Given the description of an element on the screen output the (x, y) to click on. 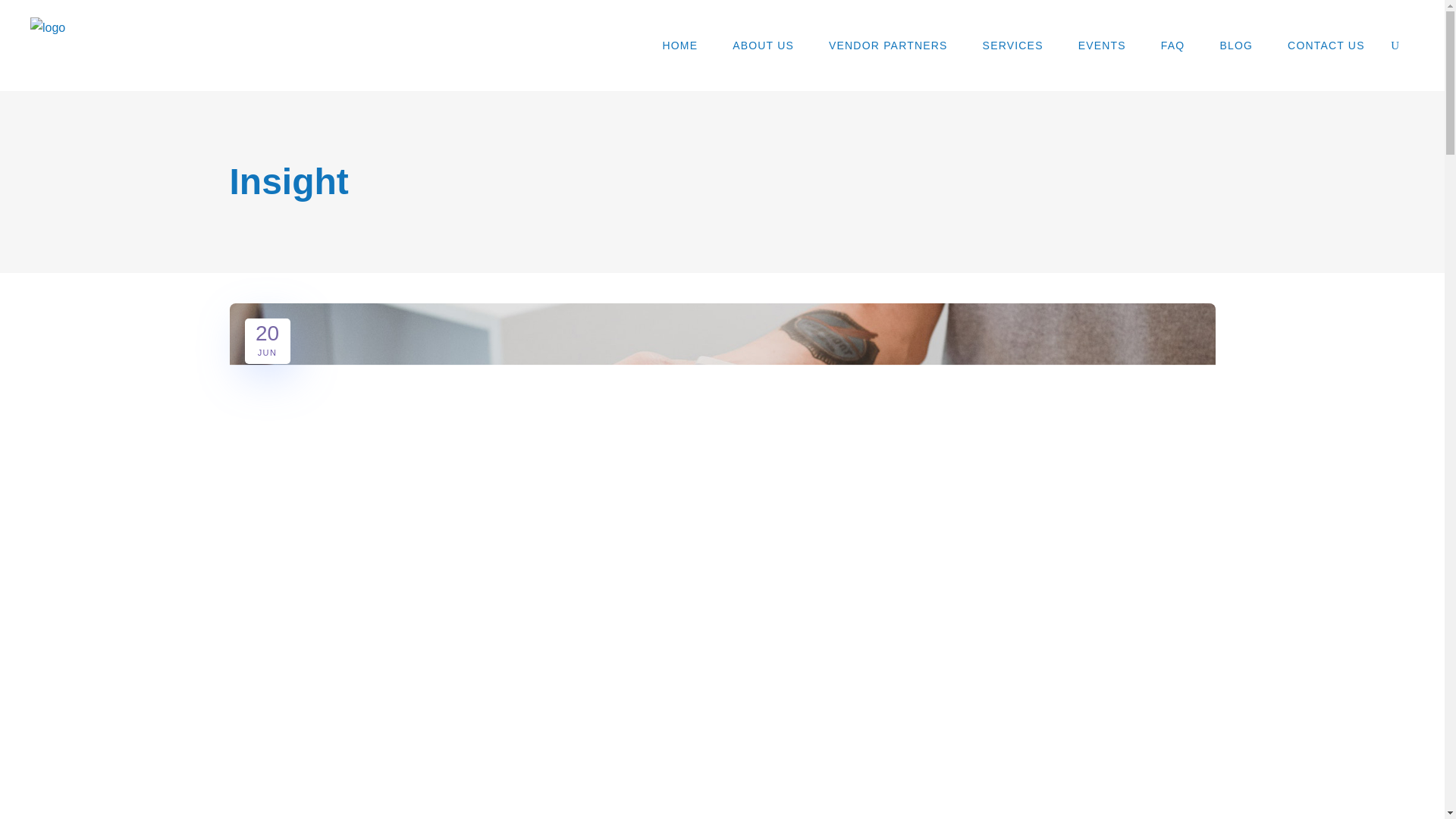
VENDOR PARTNERS (887, 45)
CONTACT US (1325, 45)
EVENTS (1101, 45)
SERVICES (1013, 45)
ABOUT US (266, 337)
